Given the description of an element on the screen output the (x, y) to click on. 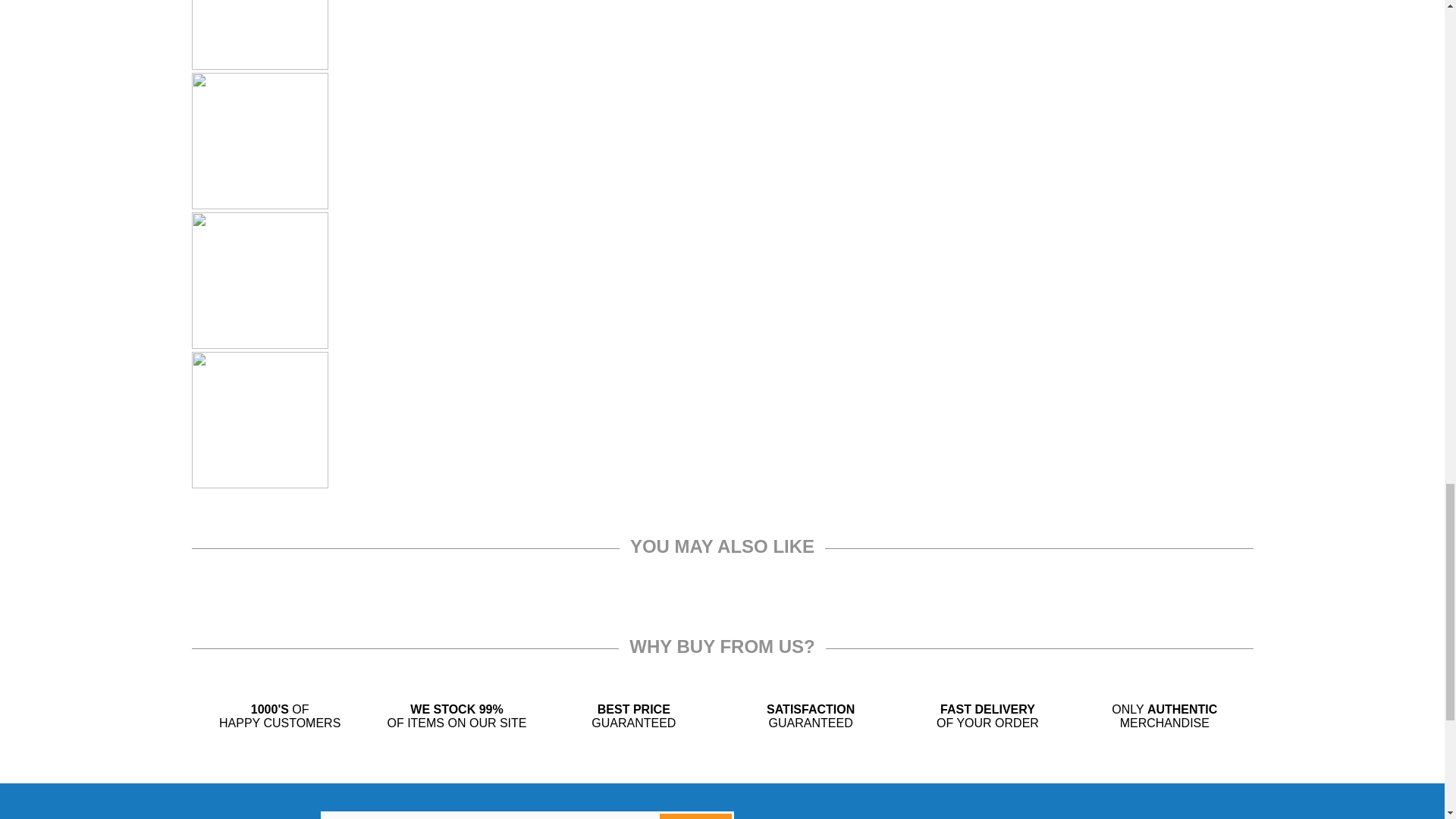
SUBMIT (695, 816)
